Given the description of an element on the screen output the (x, y) to click on. 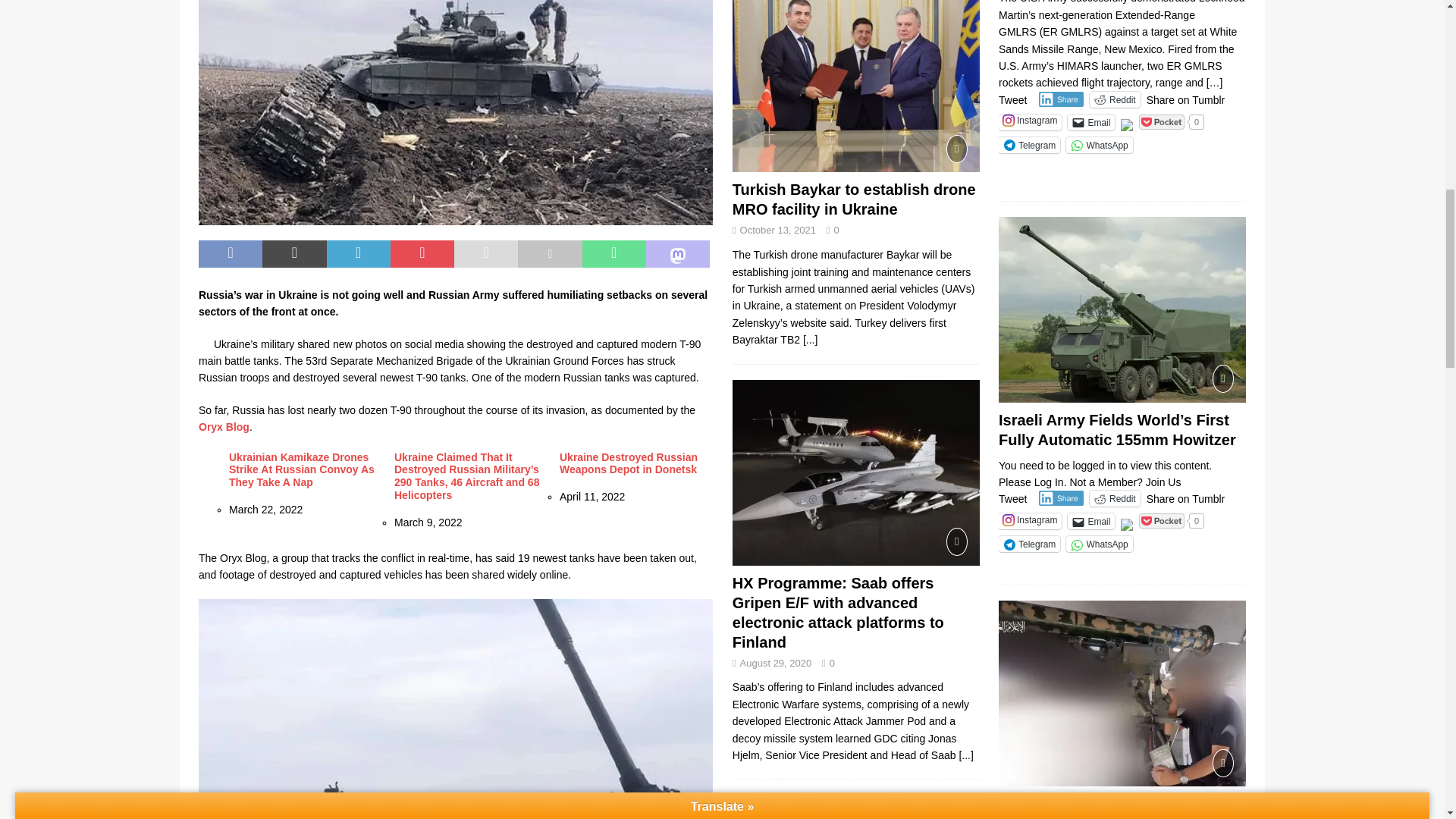
Tweet This Post (294, 253)
Share on Facebook (230, 253)
T-90 Destroyed1 (455, 112)
Pin This Post (422, 253)
Share on LinkedIn (358, 253)
